Given the description of an element on the screen output the (x, y) to click on. 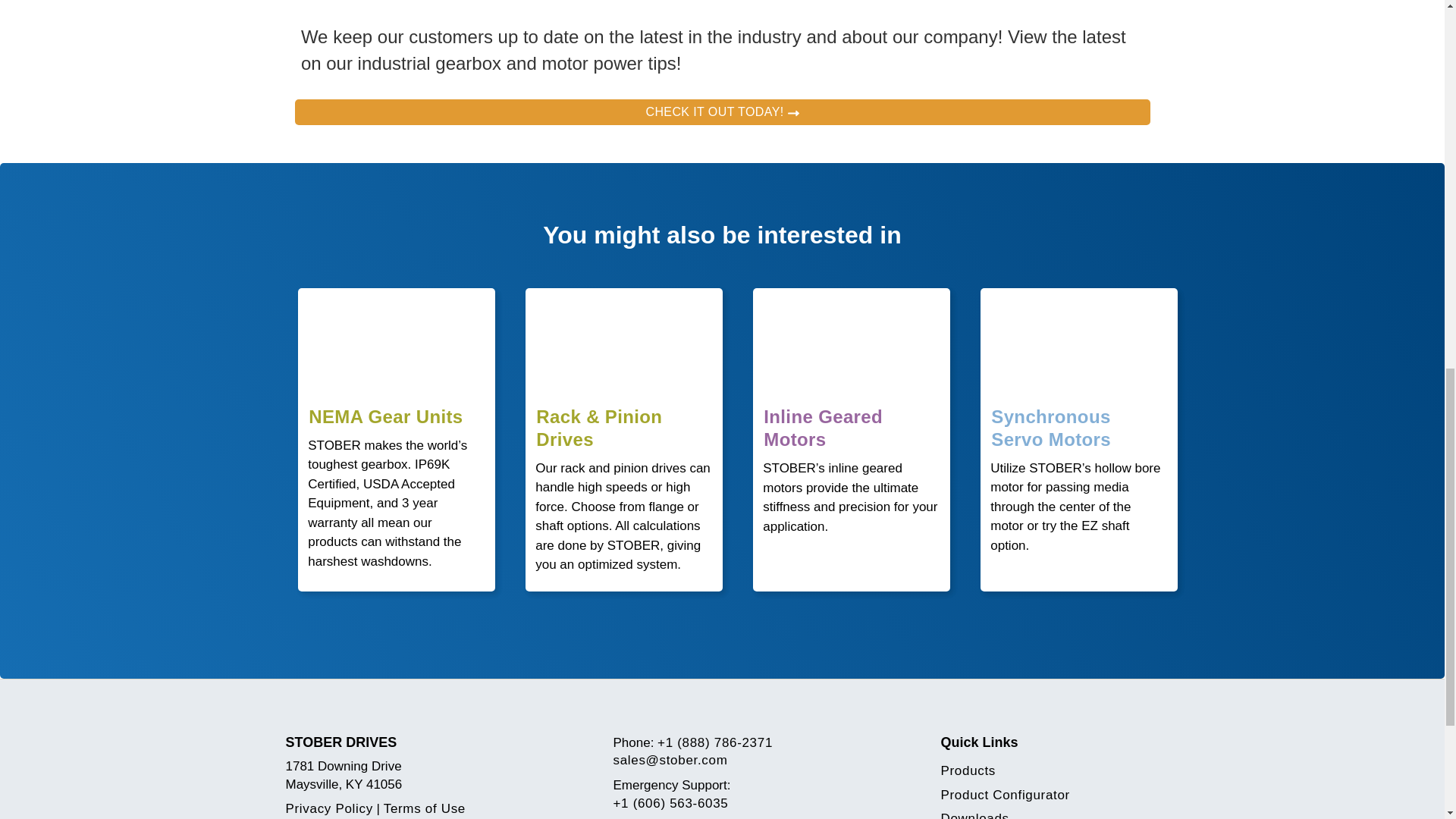
Legal Notes (424, 809)
Imprint (328, 809)
